Given the description of an element on the screen output the (x, y) to click on. 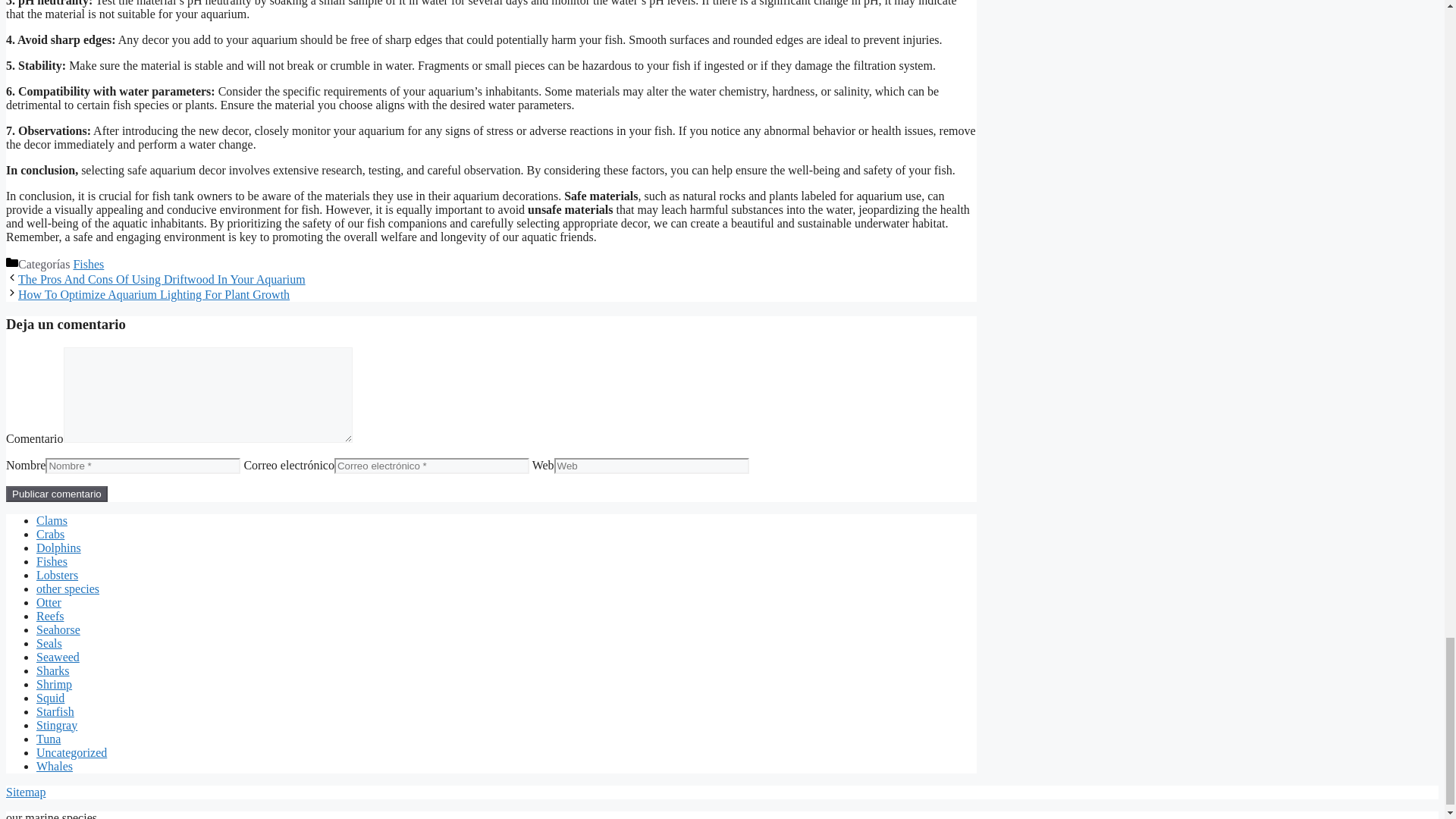
Publicar comentario (56, 494)
Publicar comentario (56, 494)
Fishes (87, 264)
How To Optimize Aquarium Lighting For Plant Growth (153, 294)
The Pros And Cons Of Using Driftwood In Your Aquarium (161, 278)
Clams (51, 520)
